Given the description of an element on the screen output the (x, y) to click on. 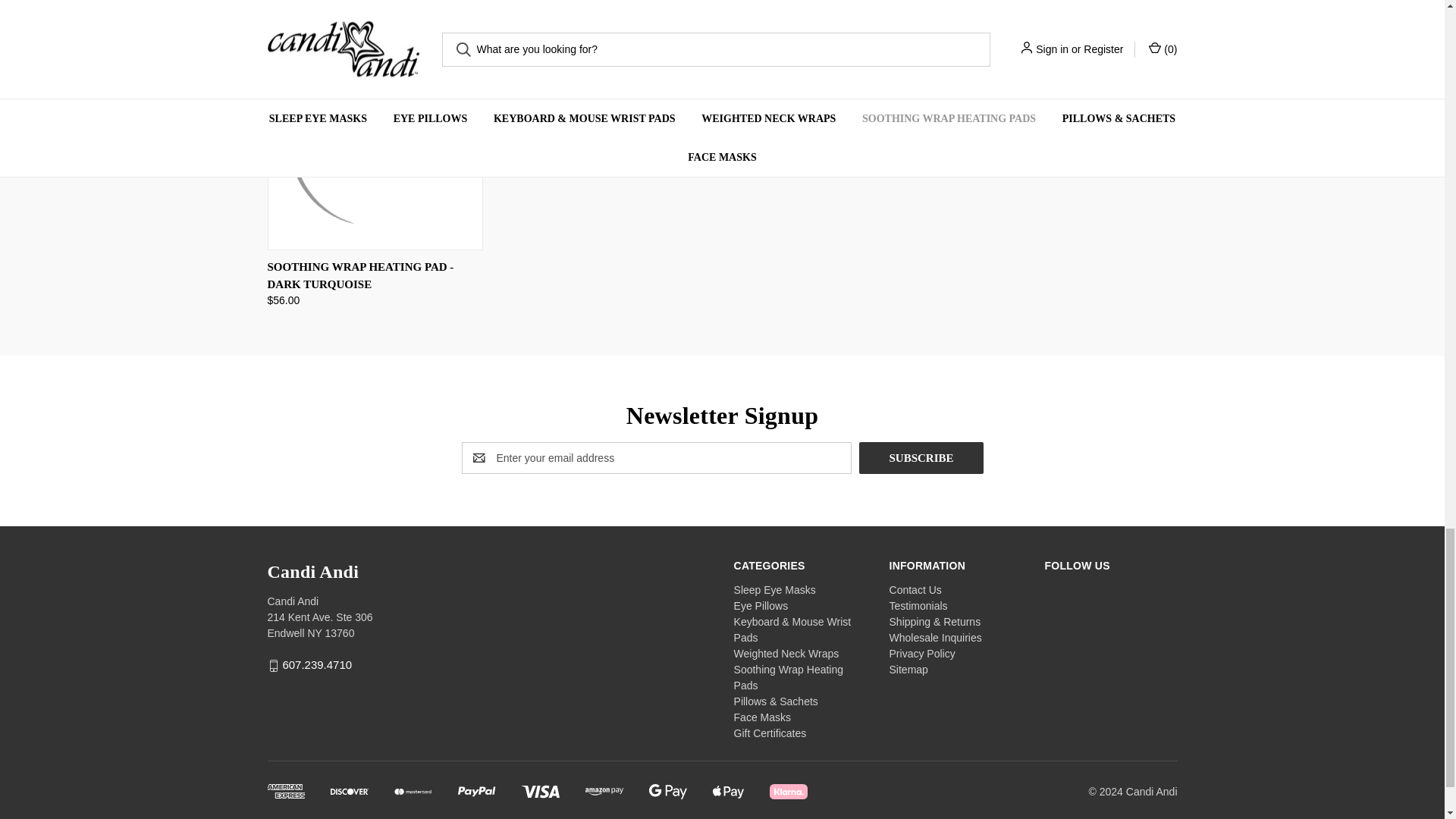
Subscribe (920, 458)
Soothing Wrap Heating Pad - Dark Turquoise (374, 142)
